Given the description of an element on the screen output the (x, y) to click on. 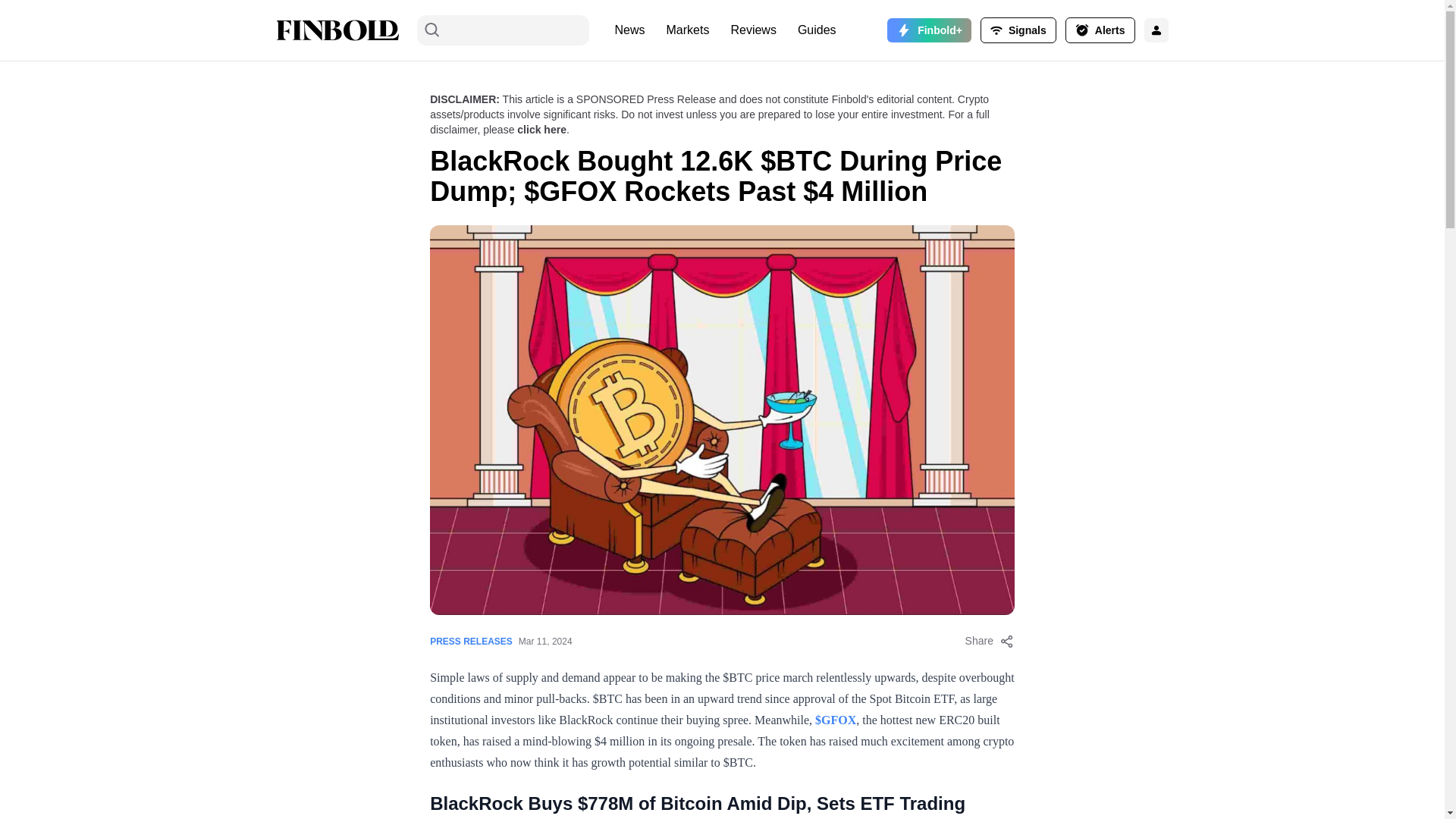
Account (1100, 30)
Signals (1018, 30)
Guides (817, 29)
Account (1018, 30)
Alerts (1100, 30)
News (629, 29)
Finbold (336, 29)
Markets (688, 29)
Reviews (752, 29)
